Given the description of an element on the screen output the (x, y) to click on. 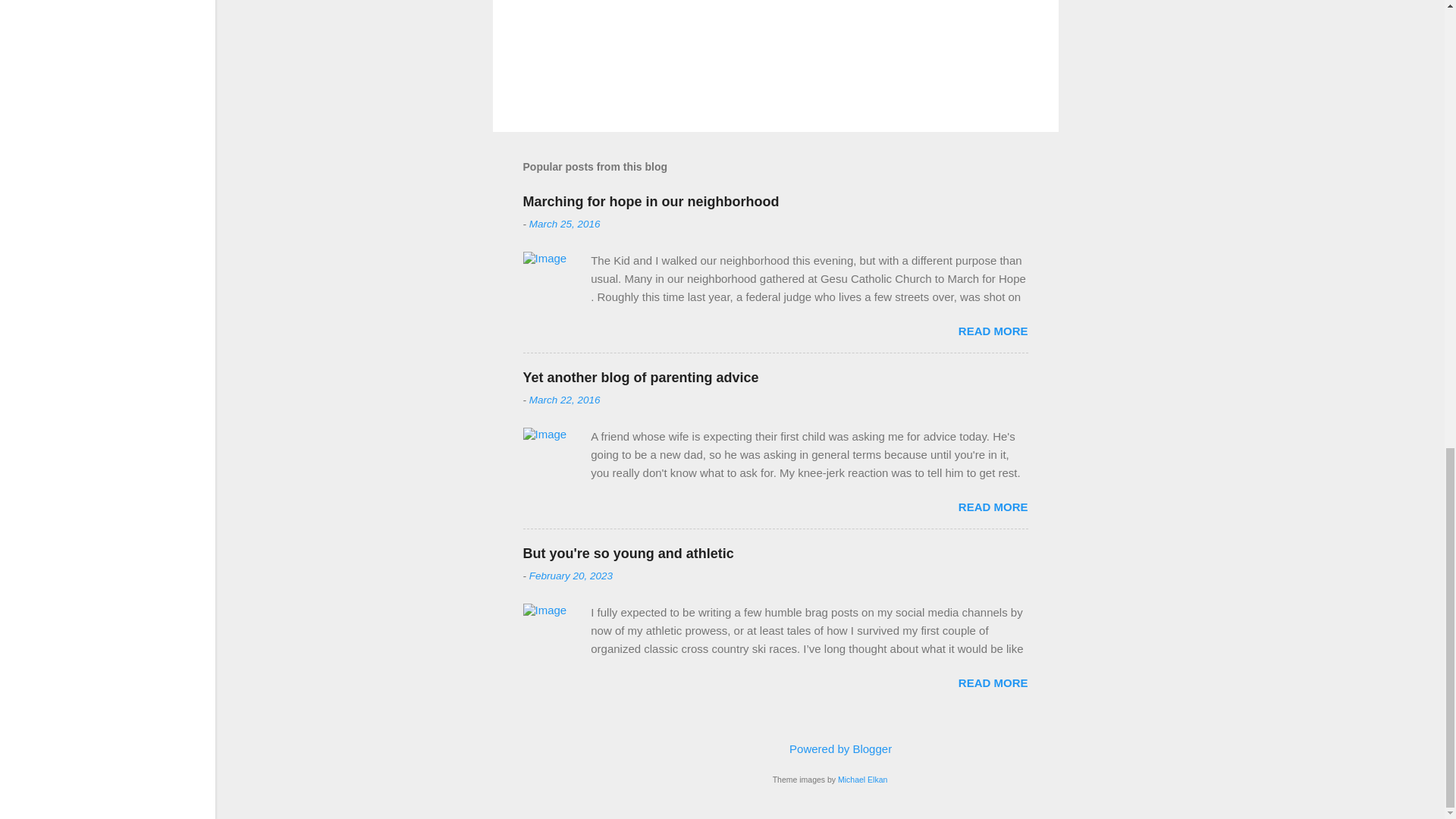
But you're so young and athletic (627, 553)
READ MORE (992, 506)
READ MORE (992, 682)
permanent link (564, 224)
March 25, 2016 (564, 224)
Marching for hope in our neighborhood (650, 201)
Michael Elkan (862, 778)
READ MORE (992, 330)
February 20, 2023 (570, 575)
March 22, 2016 (564, 399)
